Given the description of an element on the screen output the (x, y) to click on. 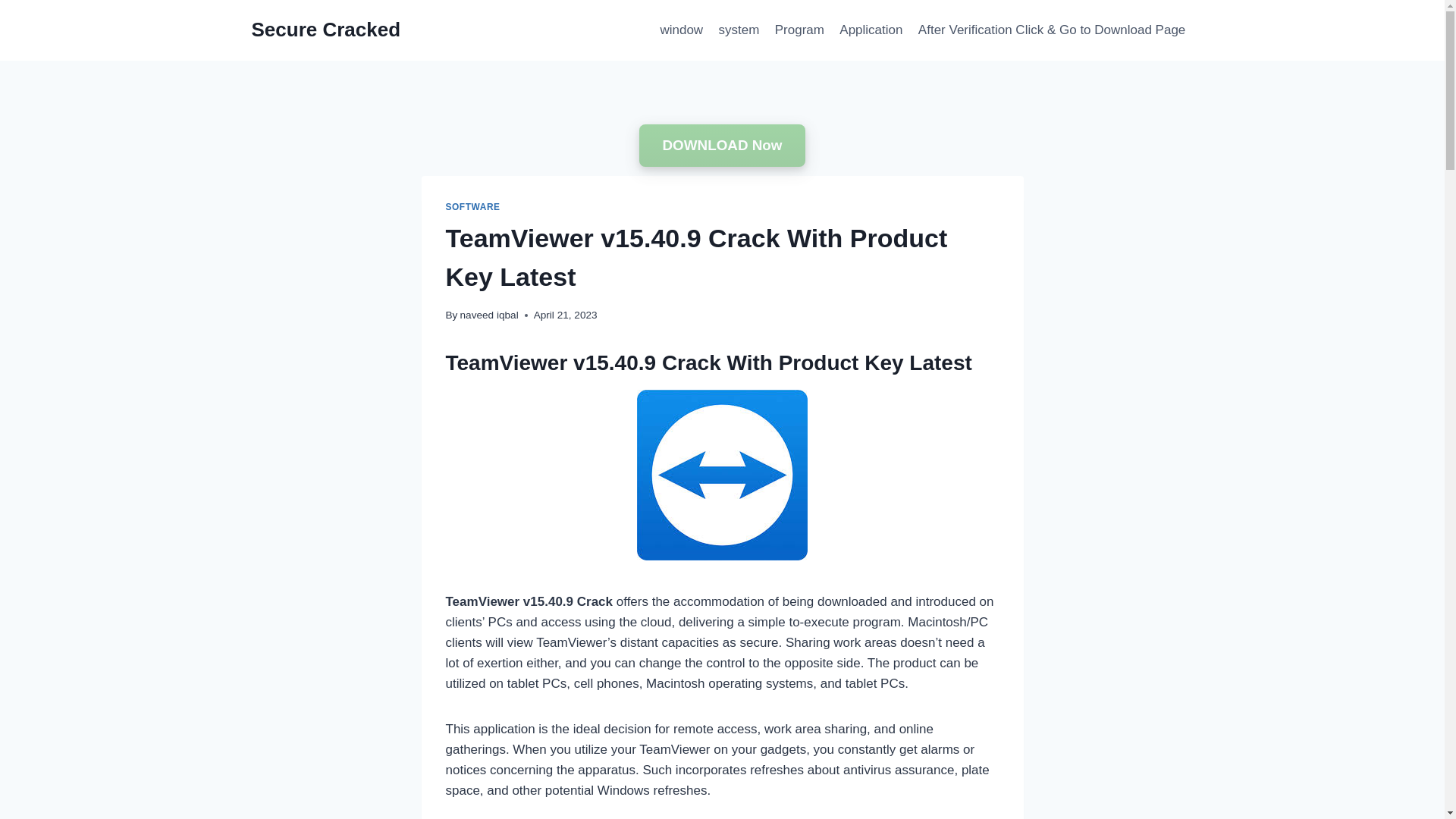
Program (799, 30)
DOWNLOAD Now (722, 145)
Secure Cracked (326, 29)
naveed iqbal (489, 315)
system (738, 30)
window (681, 30)
SOFTWARE (472, 206)
DOWNLOAD Now (721, 145)
Application (871, 30)
